Given the description of an element on the screen output the (x, y) to click on. 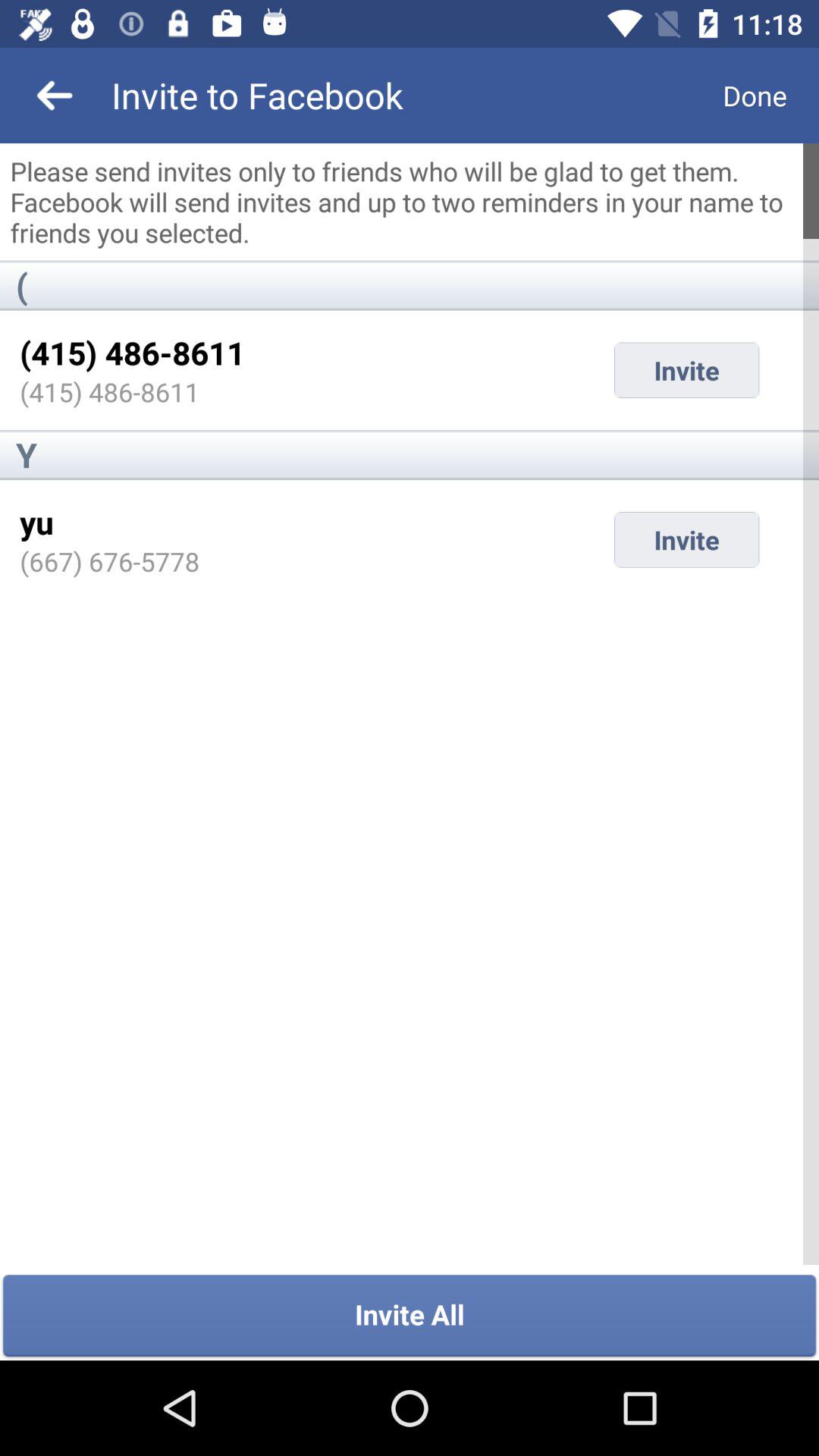
turn on icon above (667) 676-5778 item (36, 521)
